Given the description of an element on the screen output the (x, y) to click on. 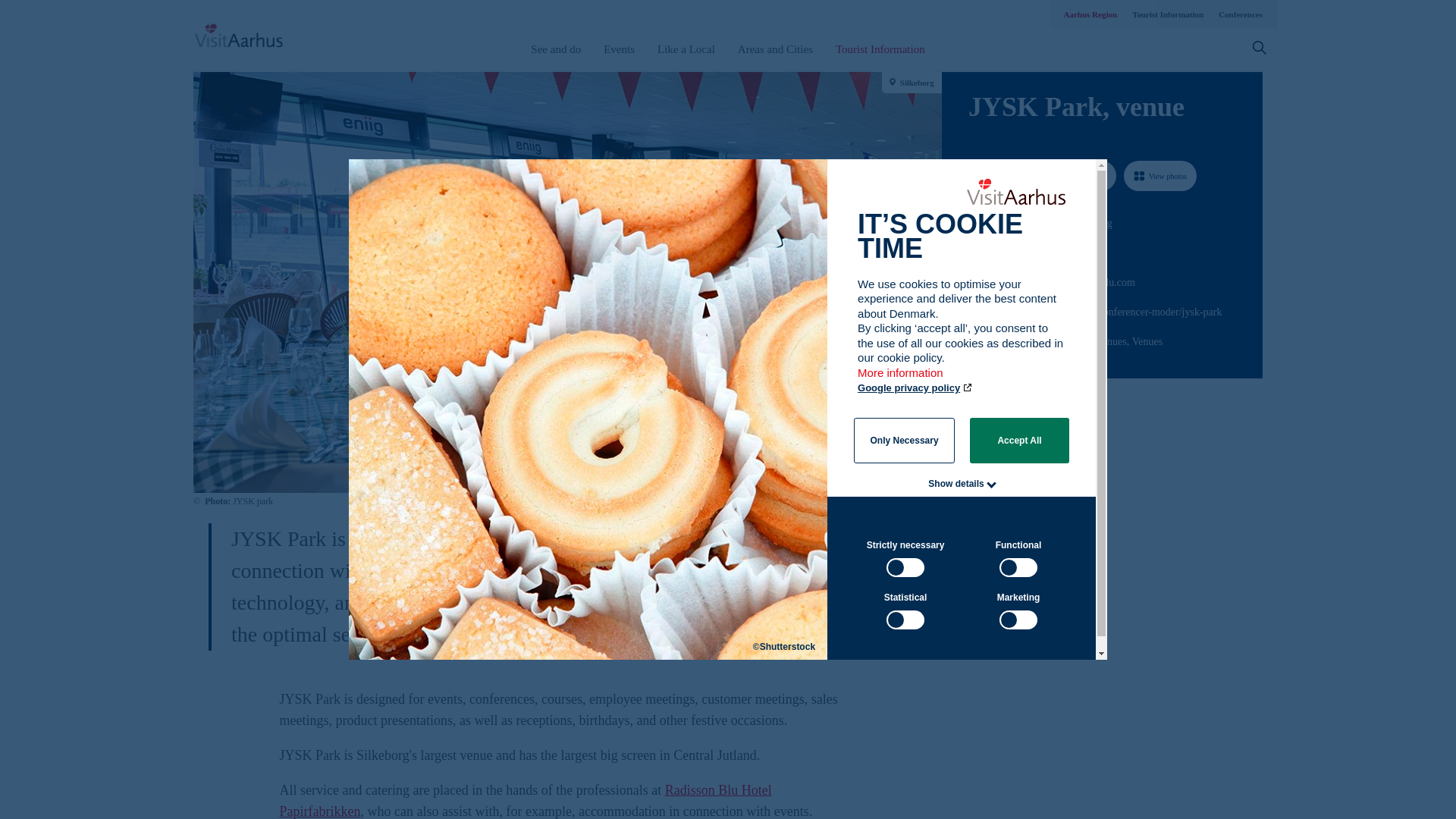
Accept All (1018, 440)
Only Necessary (904, 440)
Path (973, 250)
Show details (956, 483)
More information (900, 379)
Path (973, 310)
Google privacy policy (915, 387)
